Given the description of an element on the screen output the (x, y) to click on. 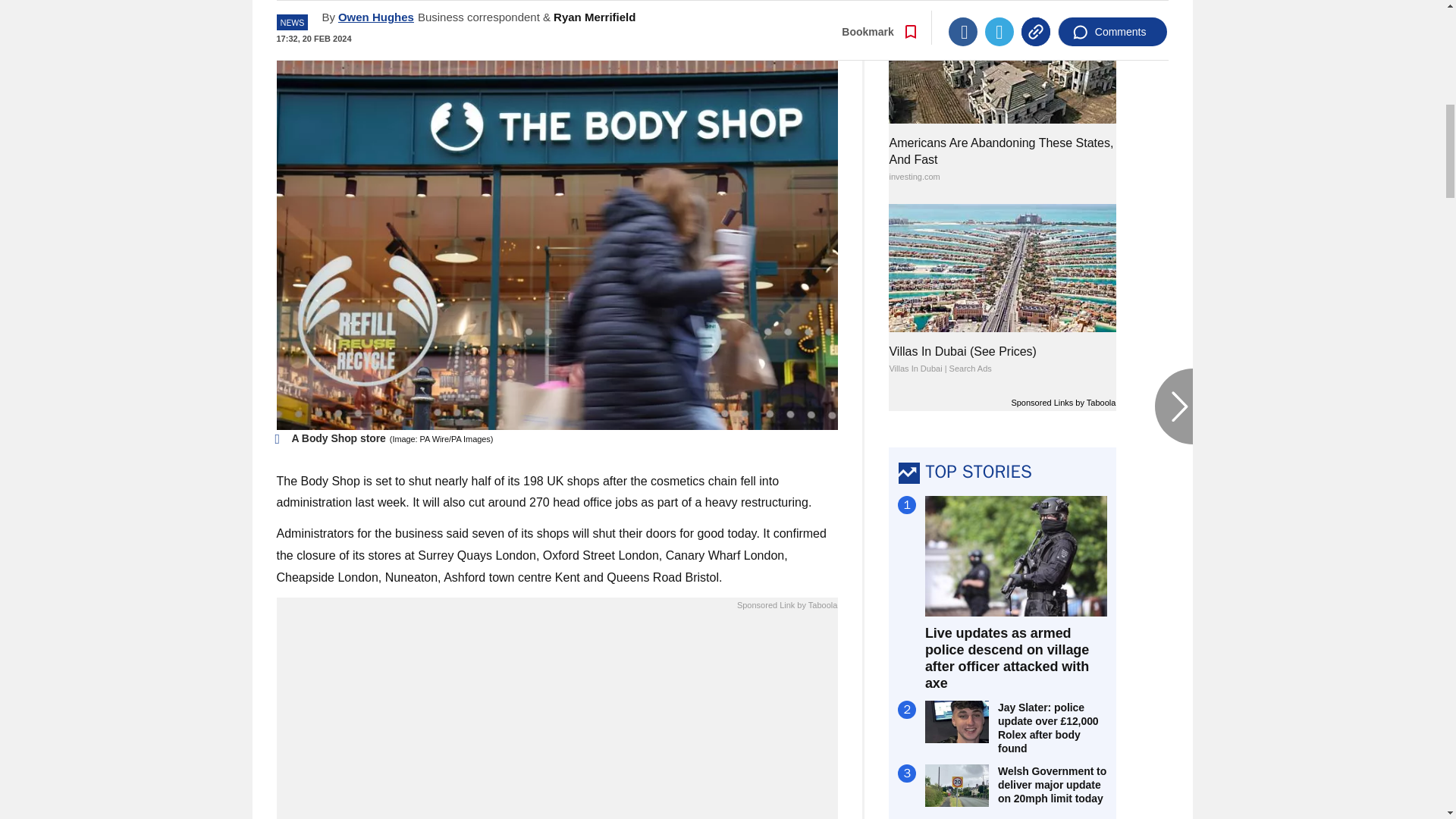
Go (730, 22)
